Given the description of an element on the screen output the (x, y) to click on. 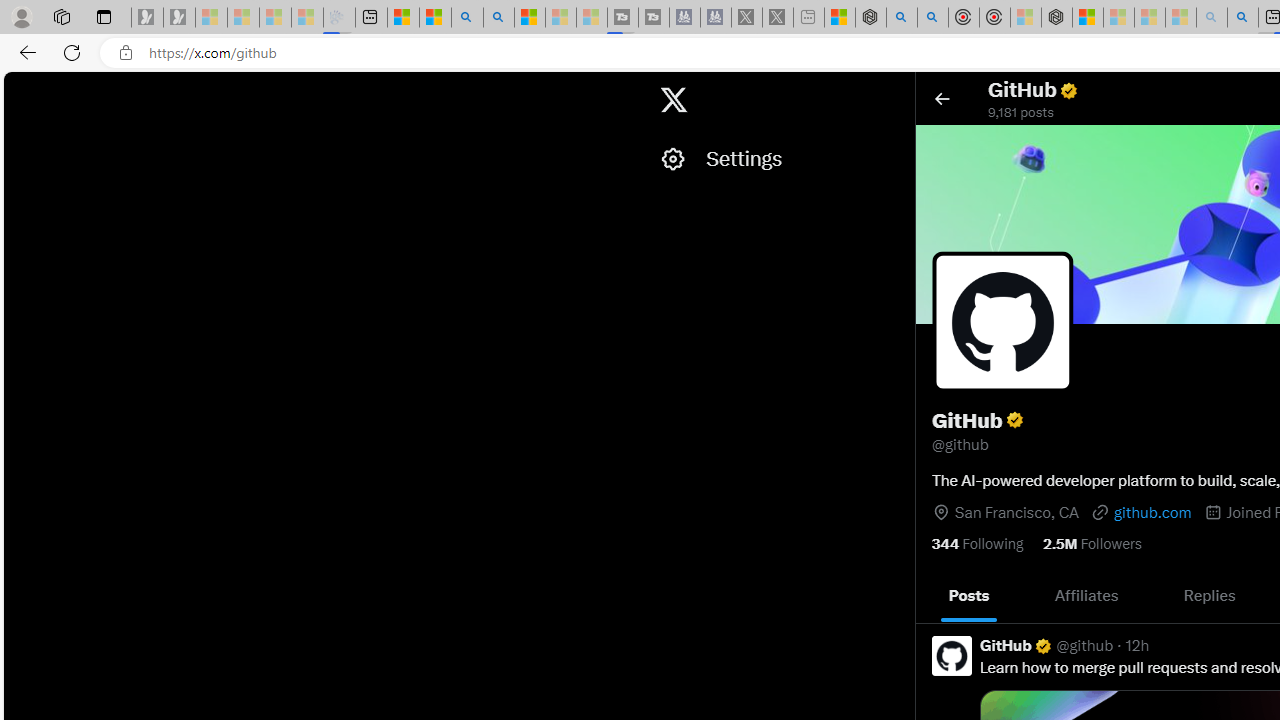
Provides details about verified accounts. (1014, 420)
344 Following (977, 542)
Skip to trending (21, 90)
Nordace - Nordace Siena Is Not An Ordinary Backpack (1056, 17)
